Given the description of an element on the screen output the (x, y) to click on. 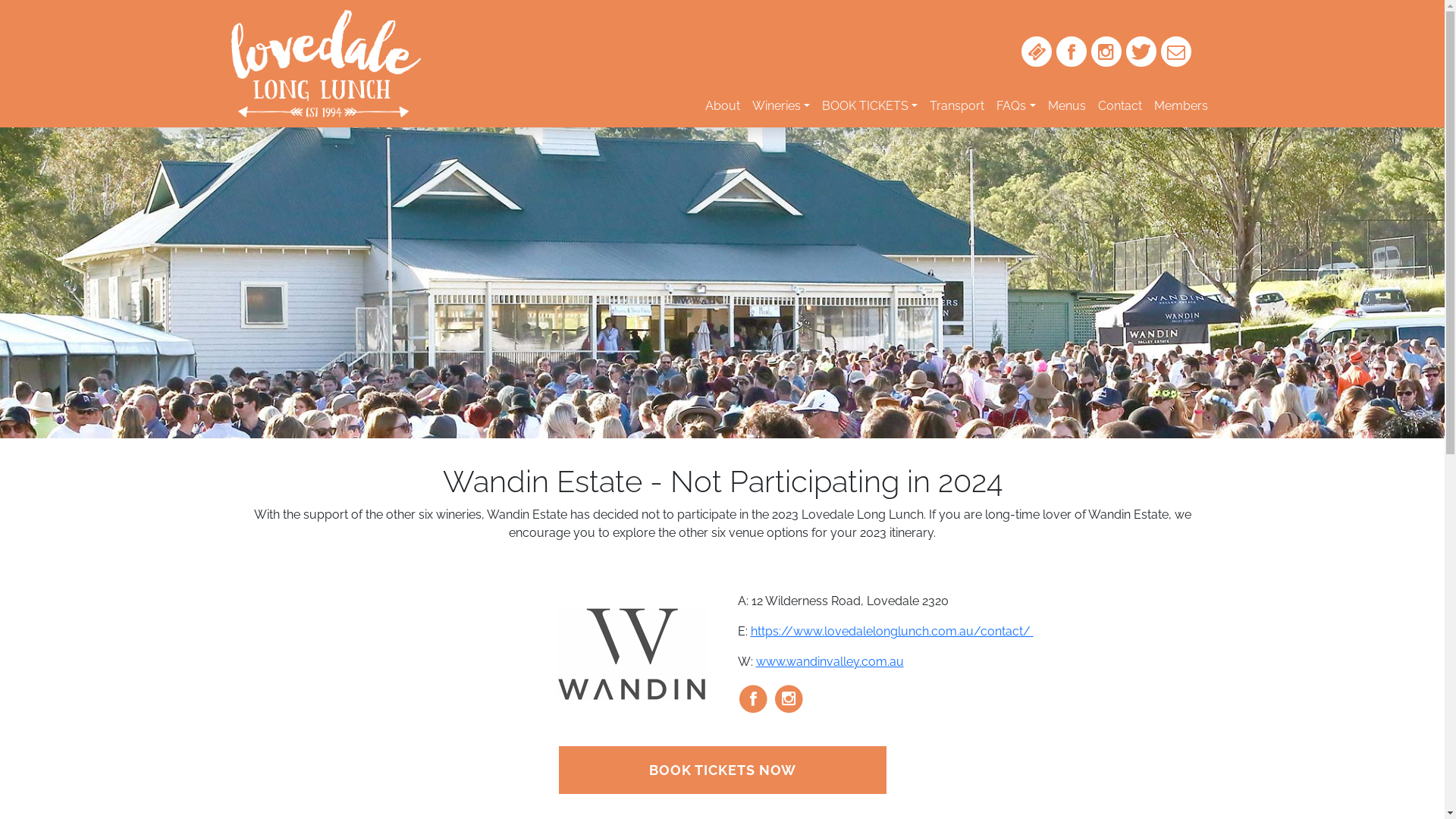
Book tickets Element type: hover (1035, 51)
https://www.lovedalelonglunch.com.au/contact/  Element type: text (891, 631)
BACK Element type: text (1324, 38)
Wineries Element type: text (780, 106)
Follow us on Twitter Element type: hover (1140, 51)
FAQs Element type: text (1015, 106)
Follow us on Instagram Element type: hover (1105, 51)
Members Element type: text (1181, 106)
Contact Element type: text (1120, 106)
Menus Element type: text (1066, 106)
Like us on Facebook Element type: hover (1070, 51)
BOOK TICKETS NOW Element type: text (721, 769)
www.wandinvalley.com.au Element type: text (829, 661)
About Element type: text (722, 106)
Sign up to our newsletter Element type: hover (1175, 51)
Transport Element type: text (956, 106)
BOOK TICKETS Element type: text (869, 106)
